Given the description of an element on the screen output the (x, y) to click on. 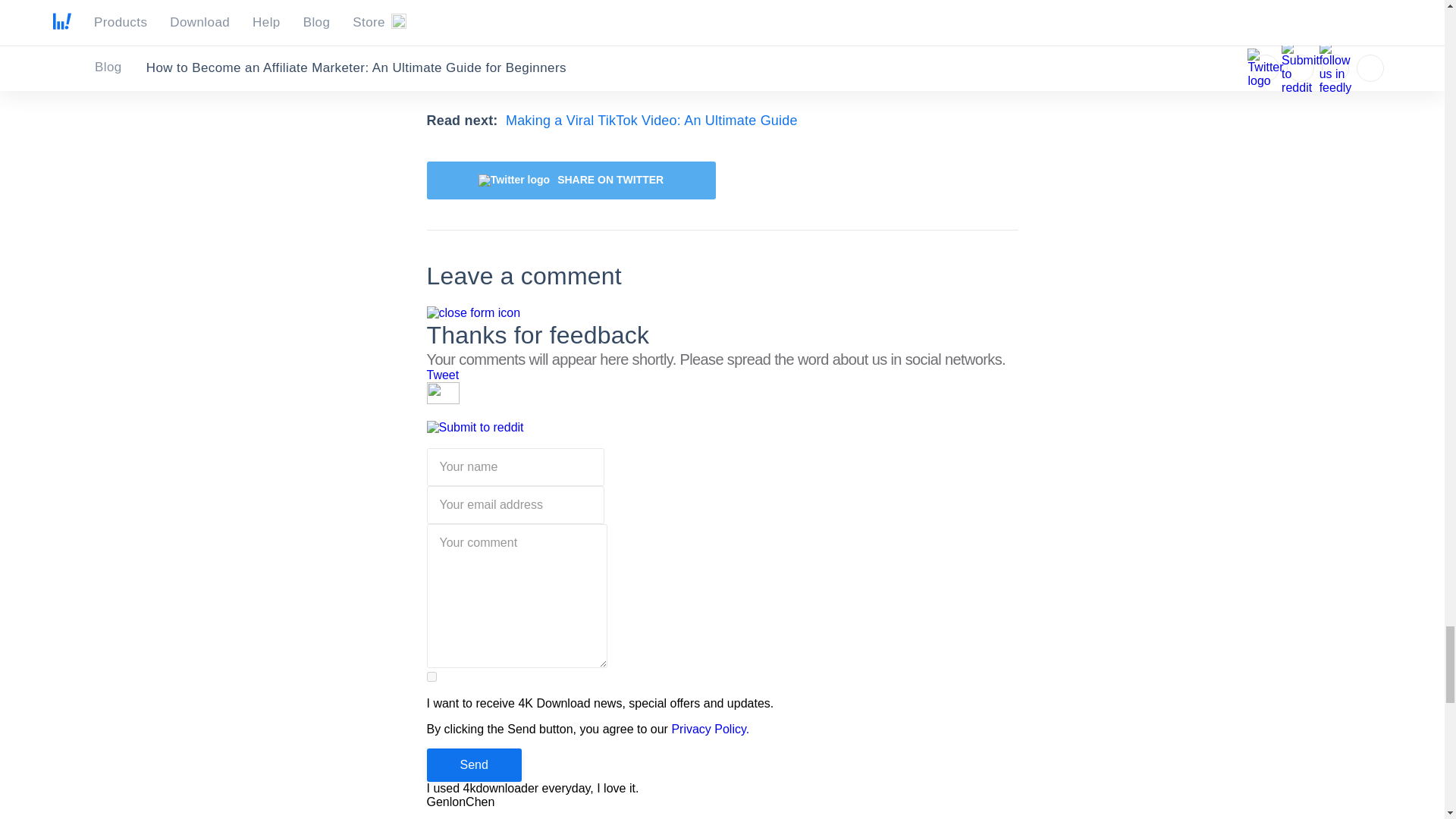
on (430, 676)
